Given the description of an element on the screen output the (x, y) to click on. 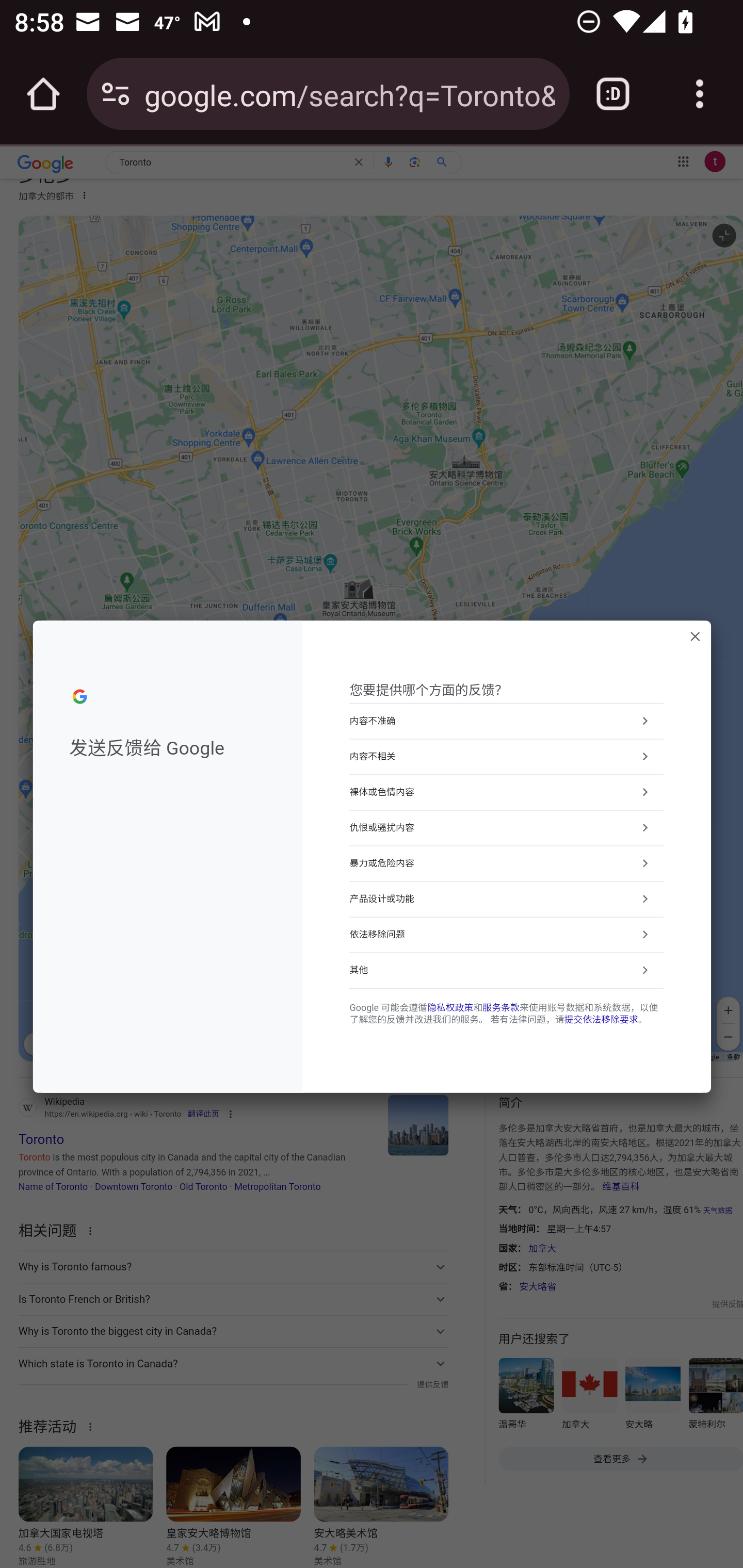
Open the home page (43, 93)
Connection is secure (115, 93)
Switch or close tabs (612, 93)
Customize and control Google Chrome (699, 93)
关闭 (694, 636)
内容不相关 (506, 756)
裸体或色情内容 (506, 791)
仇恨或骚扰内容 (506, 827)
暴力或危险内容 (506, 863)
产品设计或功能 (506, 899)
依法移除问题 (506, 934)
其他 (506, 969)
隐私权政策 (449, 1006)
服务条款 (500, 1006)
提交依法移除要求 (600, 1019)
